Given the description of an element on the screen output the (x, y) to click on. 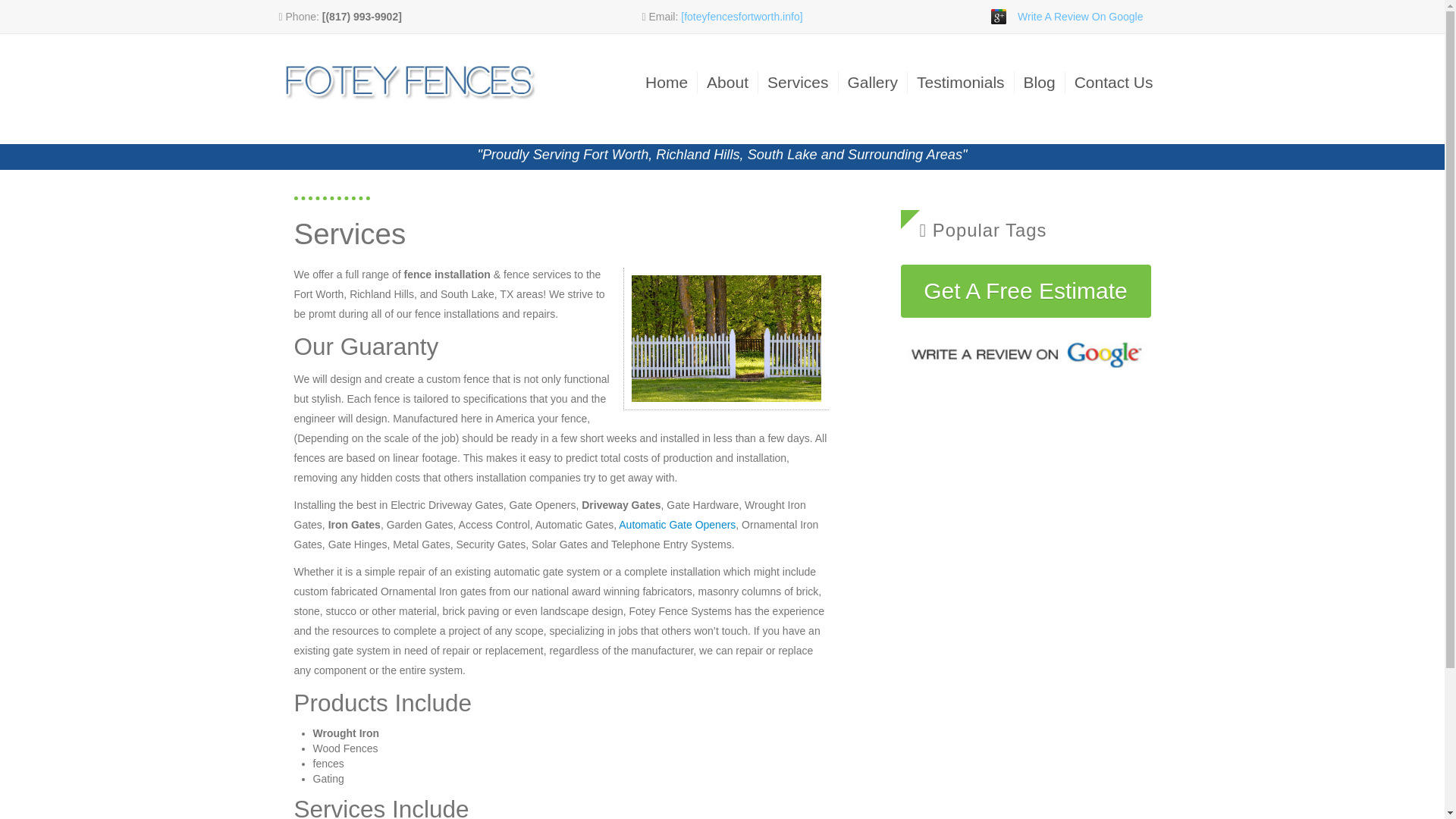
Automatic Gate Openers (676, 524)
Get A Free Estimate (1026, 290)
Services (797, 81)
Testimonials (960, 81)
Get A Free Estimate (1026, 290)
Blog (1039, 81)
Home (666, 81)
About (727, 81)
Contact Us (1113, 81)
Gallery (872, 81)
